Given the description of an element on the screen output the (x, y) to click on. 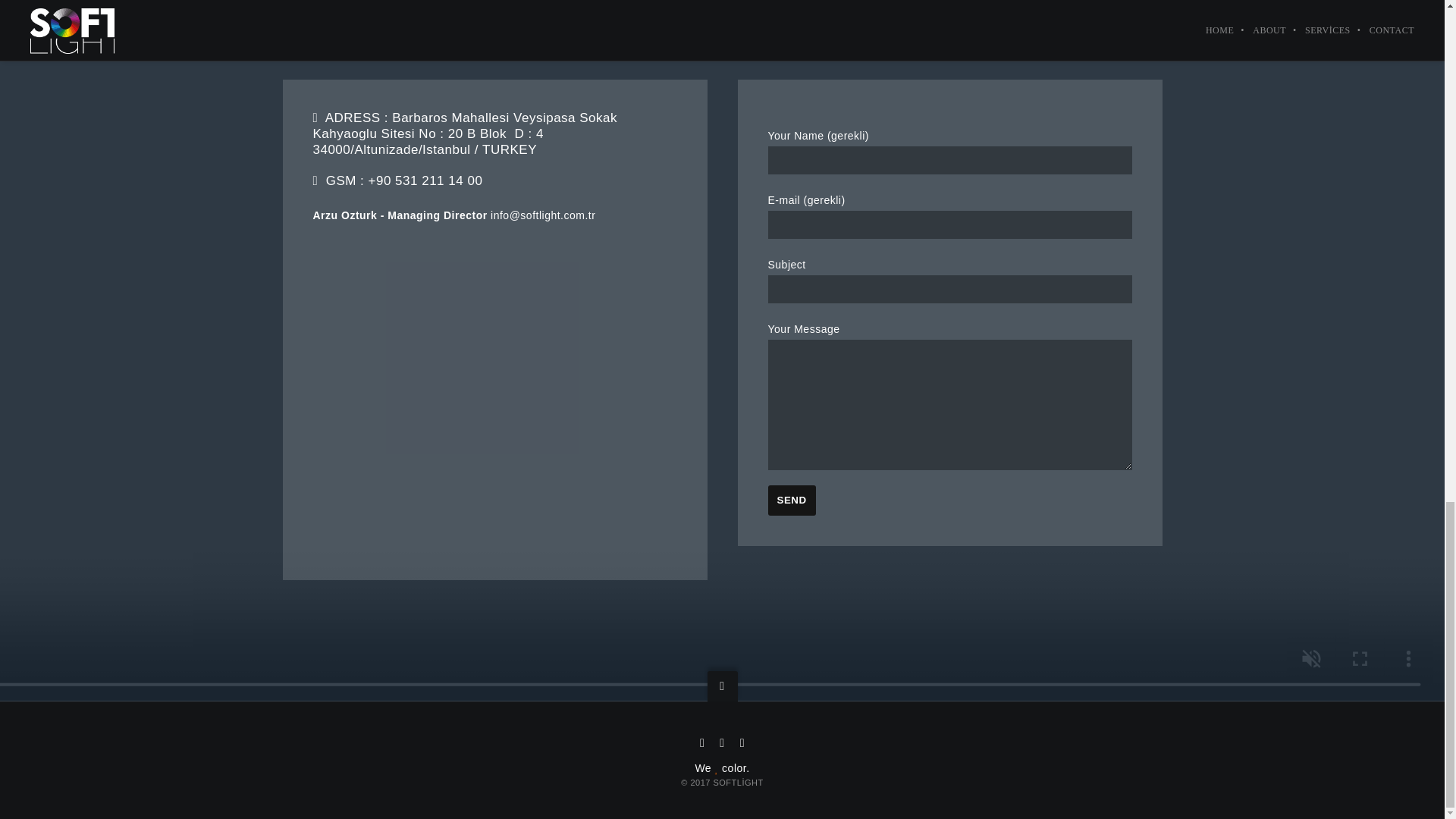
Send (791, 500)
Send (791, 500)
